Given the description of an element on the screen output the (x, y) to click on. 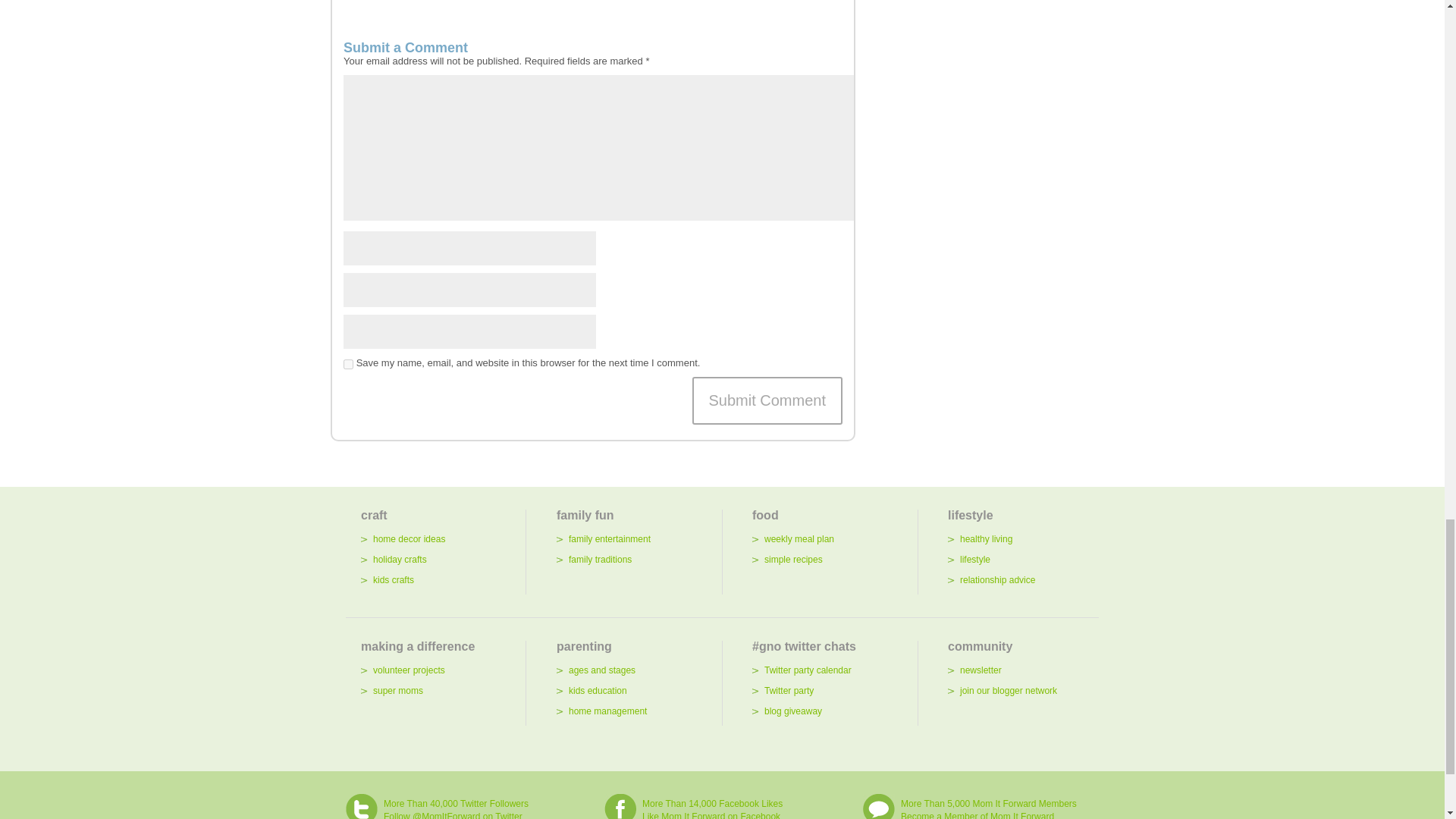
Submit Comment (767, 400)
yes (348, 364)
